Given the description of an element on the screen output the (x, y) to click on. 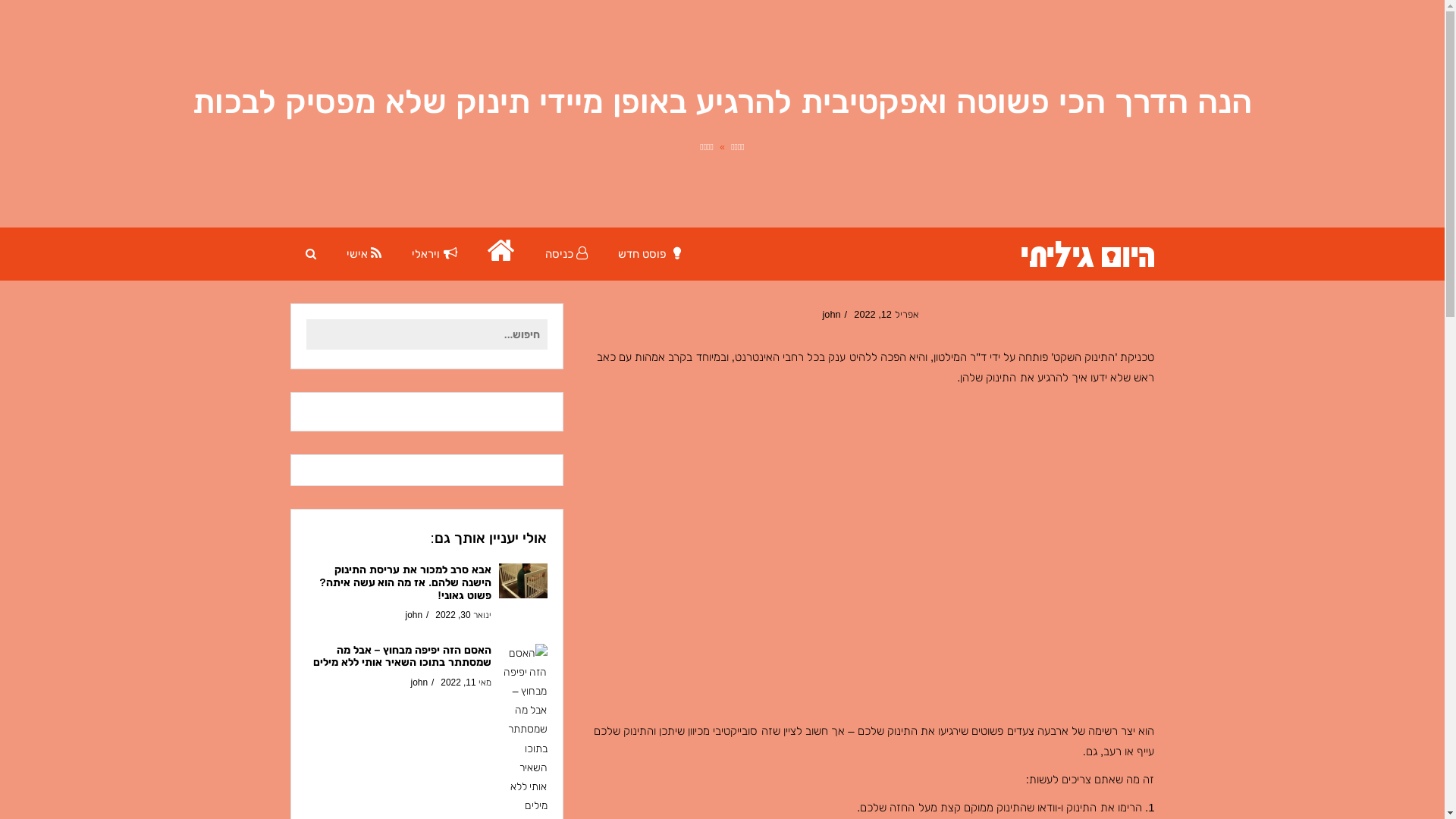
john Element type: text (413, 614)
Advertisement Element type: hover (869, 557)
john Element type: text (419, 682)
john Element type: text (831, 314)
